Given the description of an element on the screen output the (x, y) to click on. 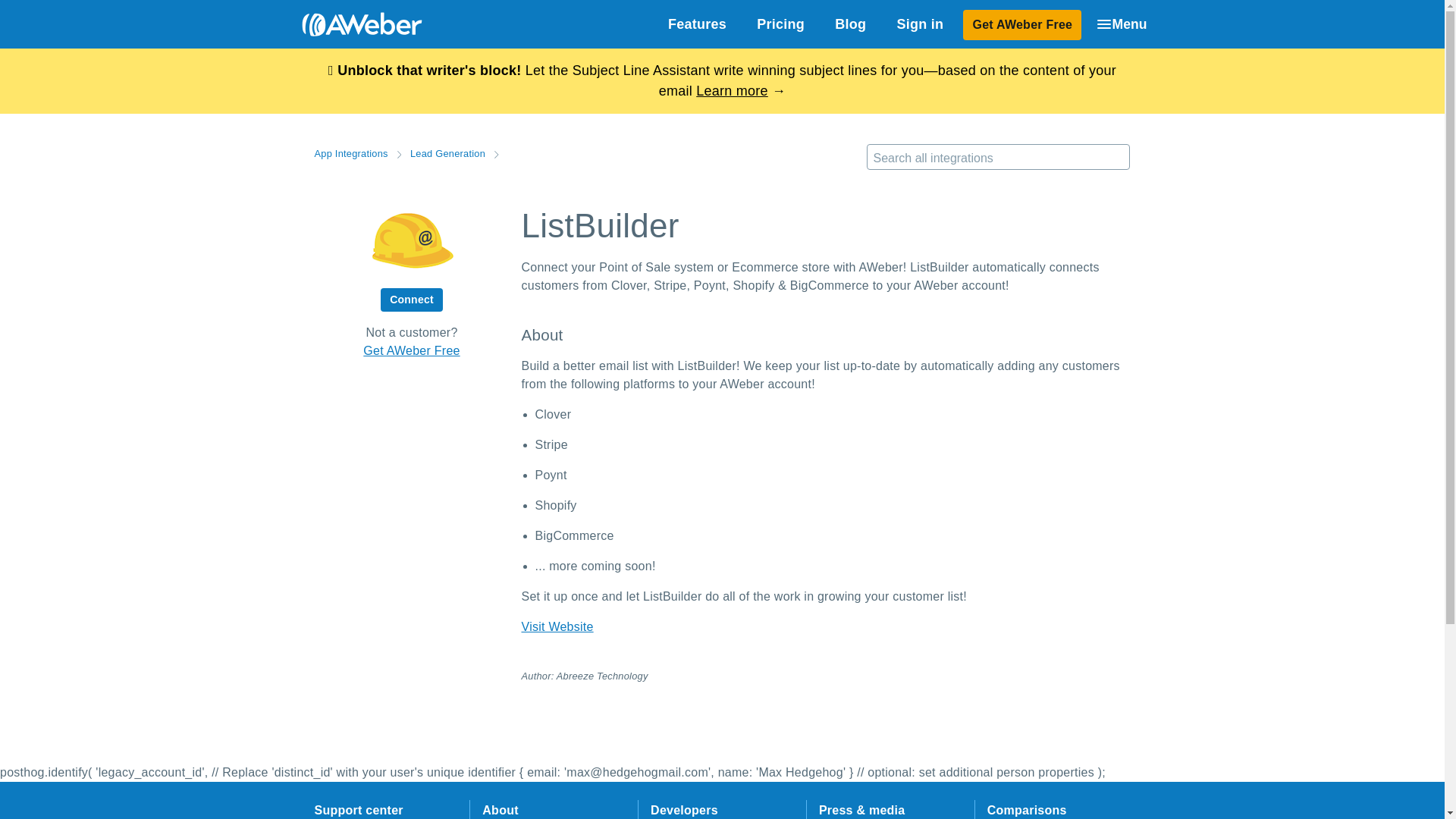
Get AWeber Free (1021, 24)
Features (696, 24)
Pricing (780, 24)
Sign in (919, 24)
AWeber logo (350, 24)
Connect (411, 300)
App Integrations (350, 153)
Lead Generation (447, 153)
Blog (849, 24)
Get AWeber Free (411, 350)
